Given the description of an element on the screen output the (x, y) to click on. 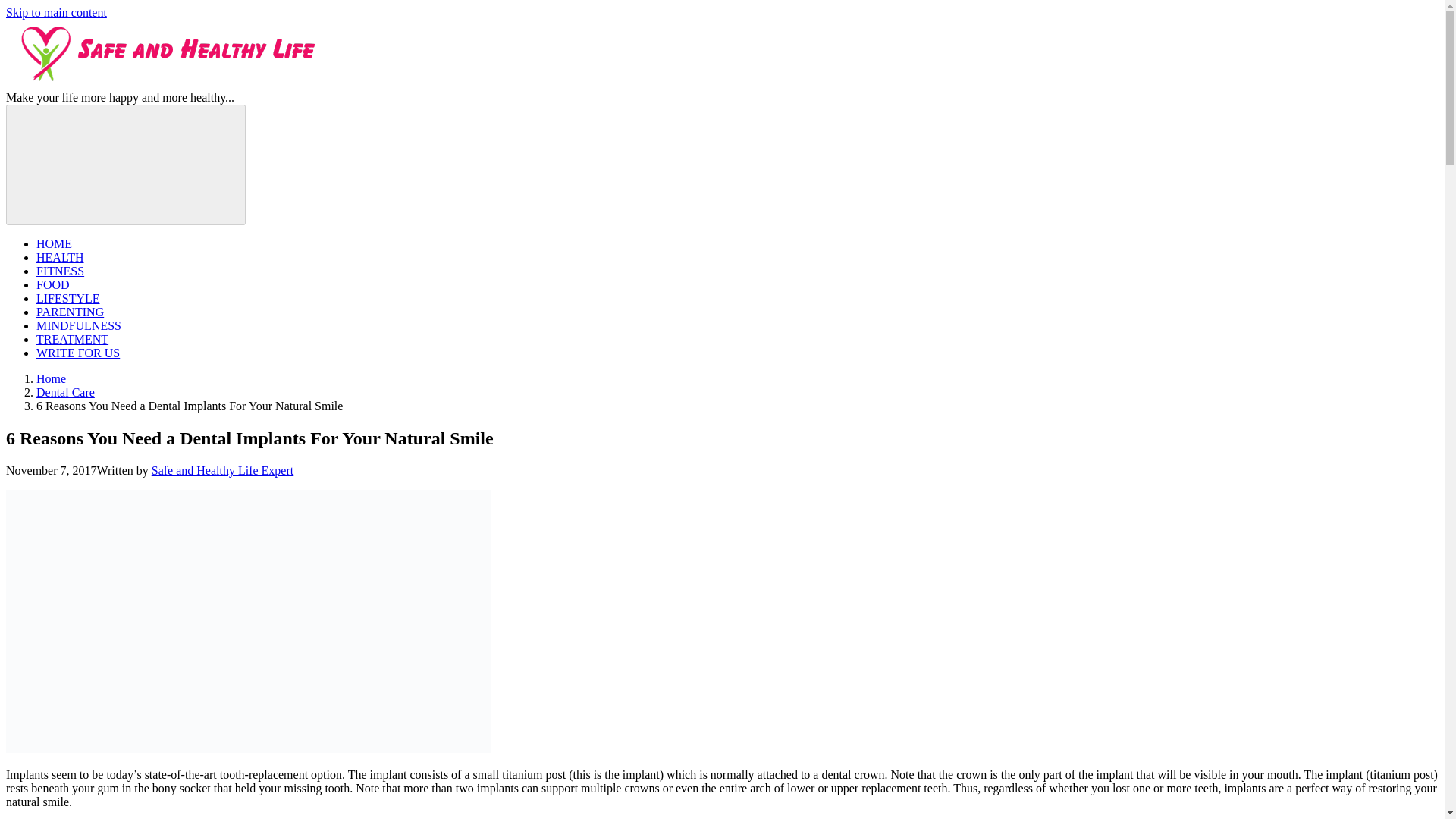
Dental Care (65, 391)
FITNESS (60, 270)
Dental Care (65, 391)
Skip to main content (55, 11)
LIFESTYLE (68, 297)
PARENTING (69, 311)
Safe and Healthy Life Expert (222, 470)
Home (50, 378)
MINDFULNESS (78, 325)
WRITE FOR US (77, 352)
TREATMENT (71, 338)
FOOD (52, 284)
HEALTH (60, 256)
HOME (53, 243)
View all posts by Safe and Healthy Life Expert (222, 470)
